Given the description of an element on the screen output the (x, y) to click on. 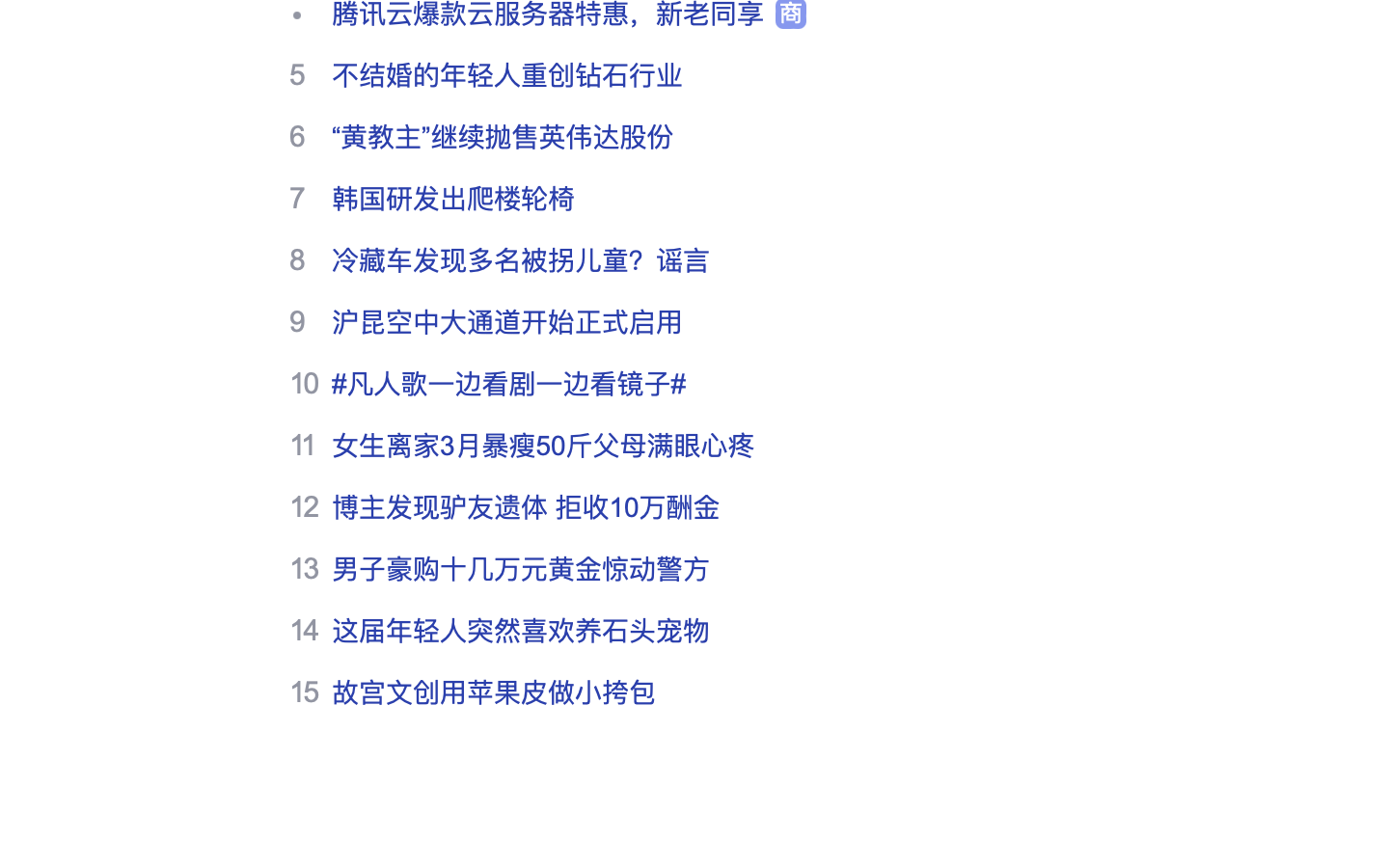
女生离家3月暴瘦50斤父母满眼心疼 Element type: AXStaticText (543, 445)
13 Element type: AXStaticText (303, 567)
6 Element type: AXStaticText (296, 135)
